Given the description of an element on the screen output the (x, y) to click on. 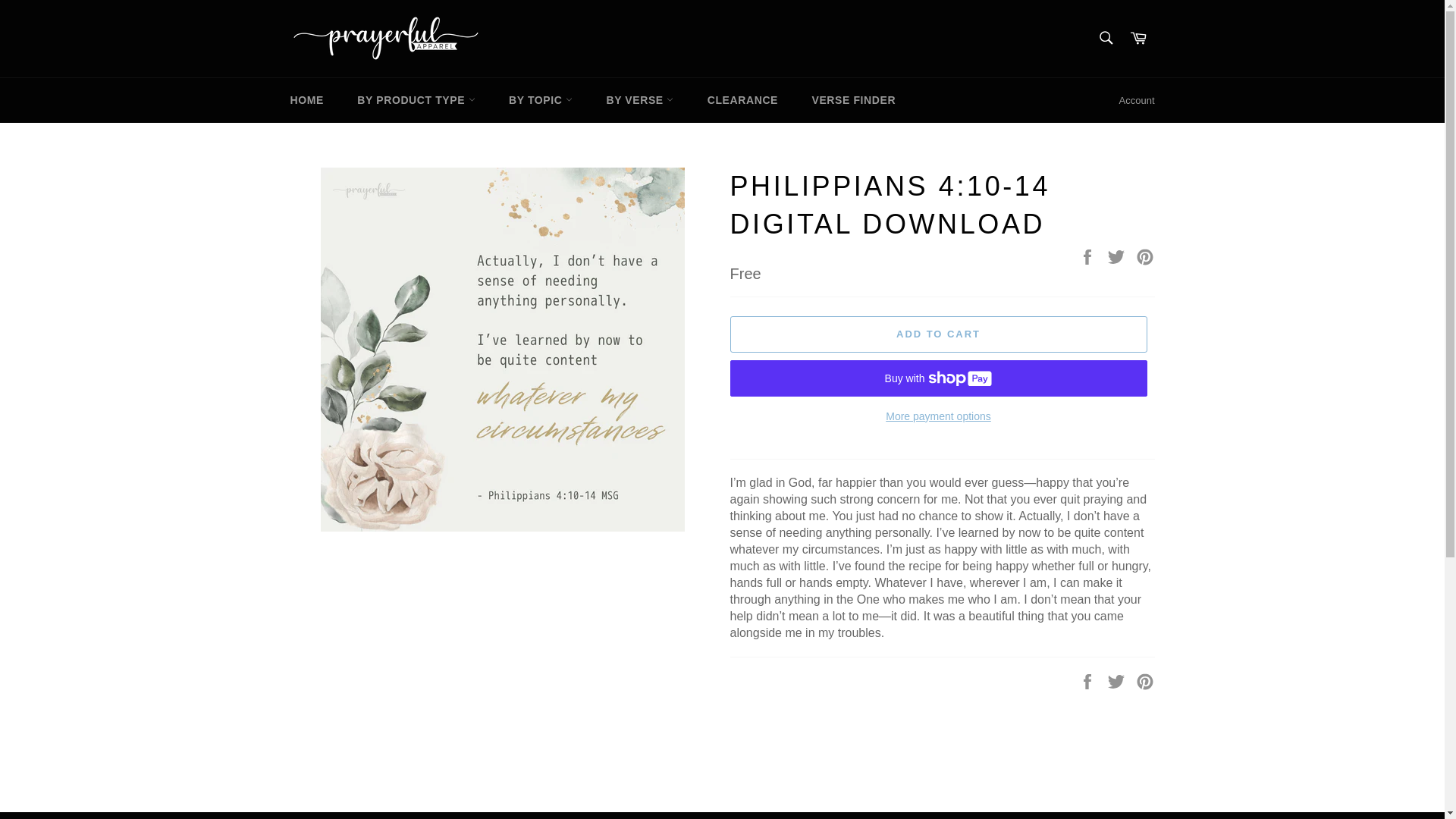
Tweet on Twitter (1117, 680)
Share on Facebook (1088, 680)
Pin on Pinterest (1144, 255)
Share on Facebook (1088, 255)
Pin on Pinterest (1144, 680)
Tweet on Twitter (1117, 255)
